Given the description of an element on the screen output the (x, y) to click on. 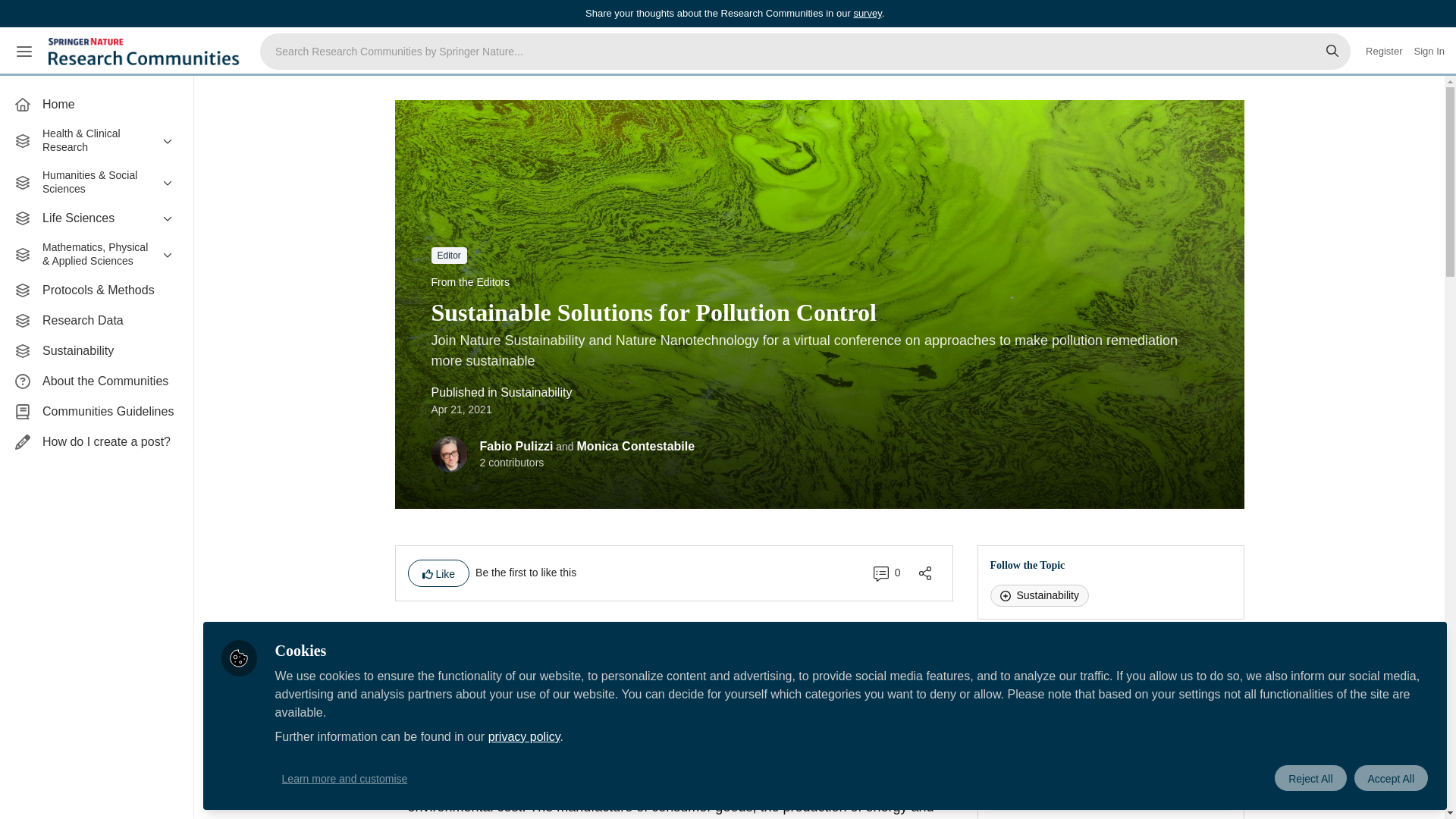
Life Sciences (96, 217)
Research Communities by Springer Nature (146, 51)
Search (1332, 51)
Menu (24, 51)
Life Sciences (96, 217)
Home (96, 103)
survey (866, 12)
Home (96, 103)
